Given the description of an element on the screen output the (x, y) to click on. 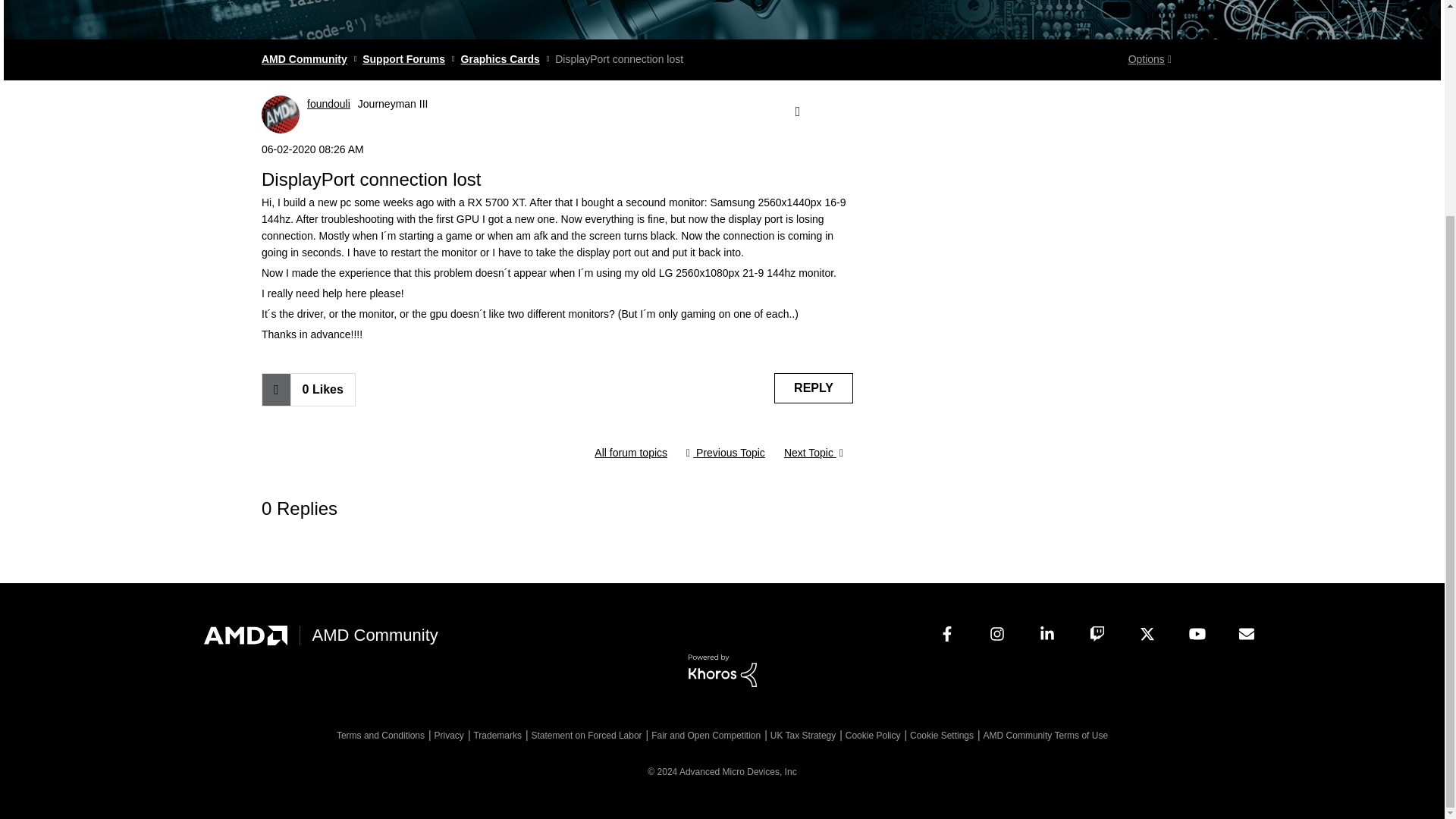
Posted on (557, 149)
foundouli (280, 114)
Show option menu (796, 111)
Show option menu (1149, 59)
The total number of likes this post has received. (322, 389)
